Given the description of an element on the screen output the (x, y) to click on. 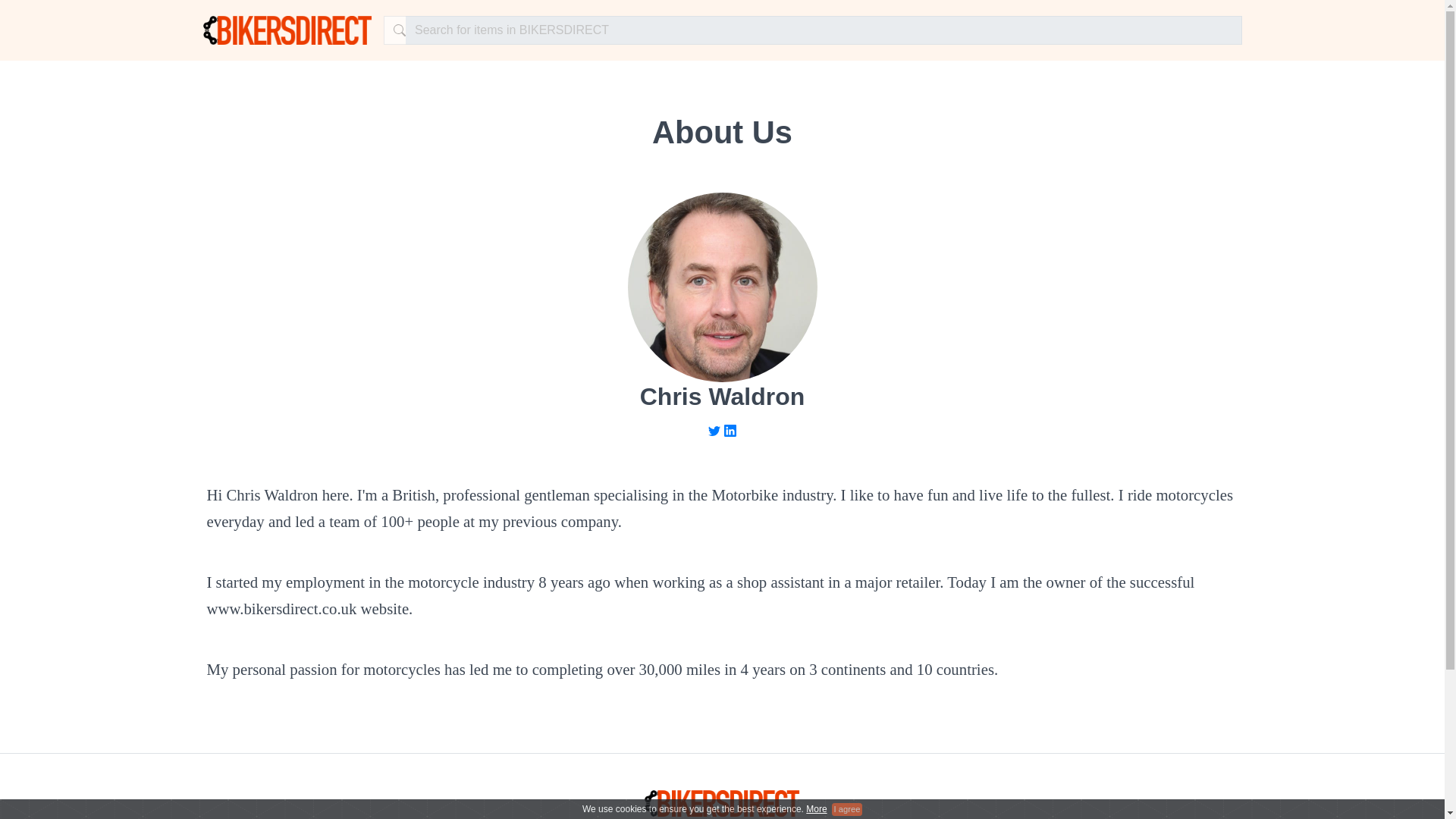
I agree (846, 808)
More (816, 808)
BIKERSDIRECT Home (287, 30)
